Given the description of an element on the screen output the (x, y) to click on. 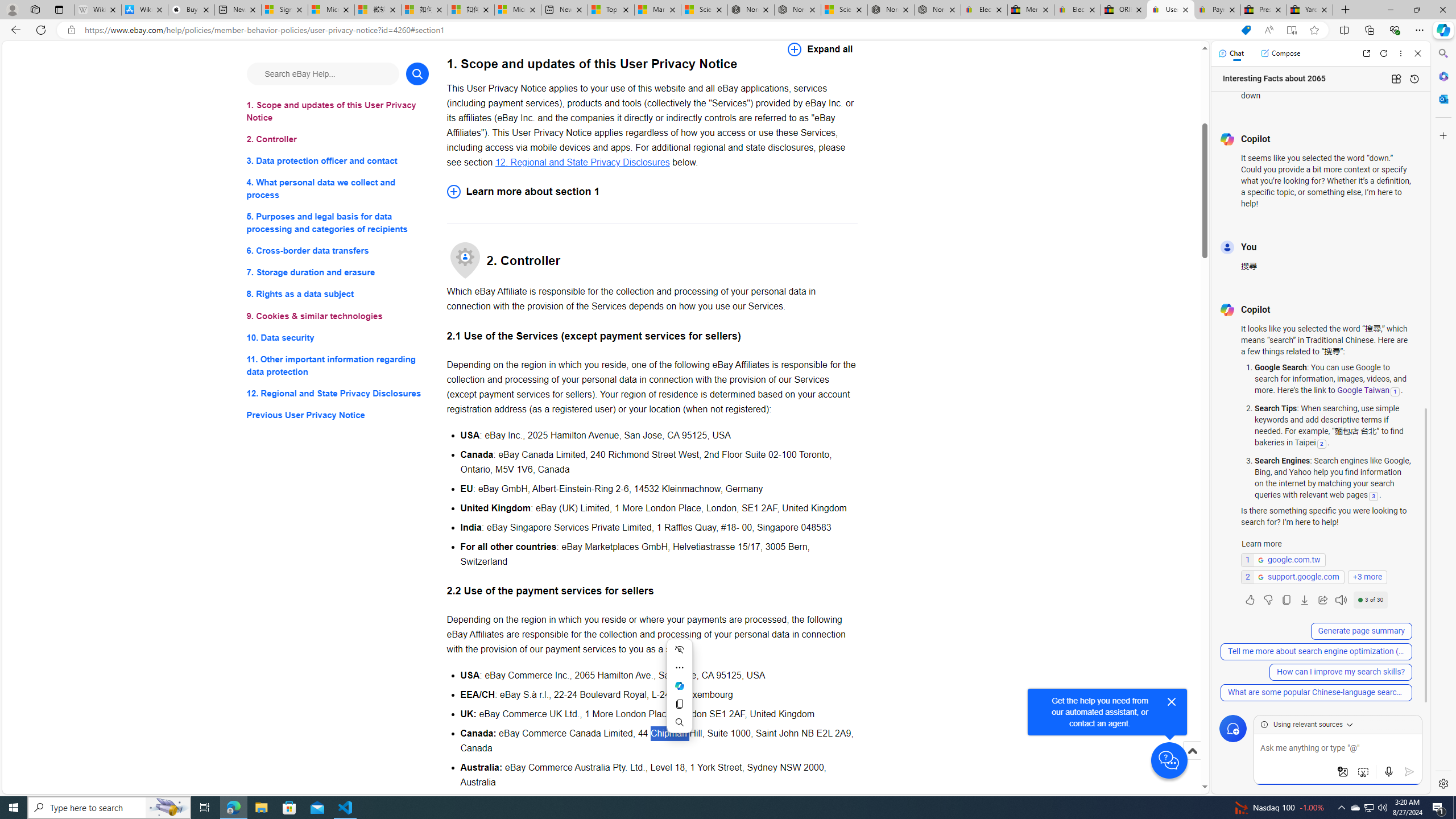
9. Cookies & similar technologies (337, 315)
User Privacy Notice | eBay (1170, 9)
6. Cross-border data transfers (337, 250)
Previous User Privacy Notice (337, 414)
Search eBay Help... (322, 73)
Microsoft account | Account Checkup (517, 9)
Payments Terms of Use | eBay.com (1216, 9)
4. What personal data we collect and process (337, 189)
6. Cross-border data transfers (337, 250)
2. Controller (337, 138)
